Given the description of an element on the screen output the (x, y) to click on. 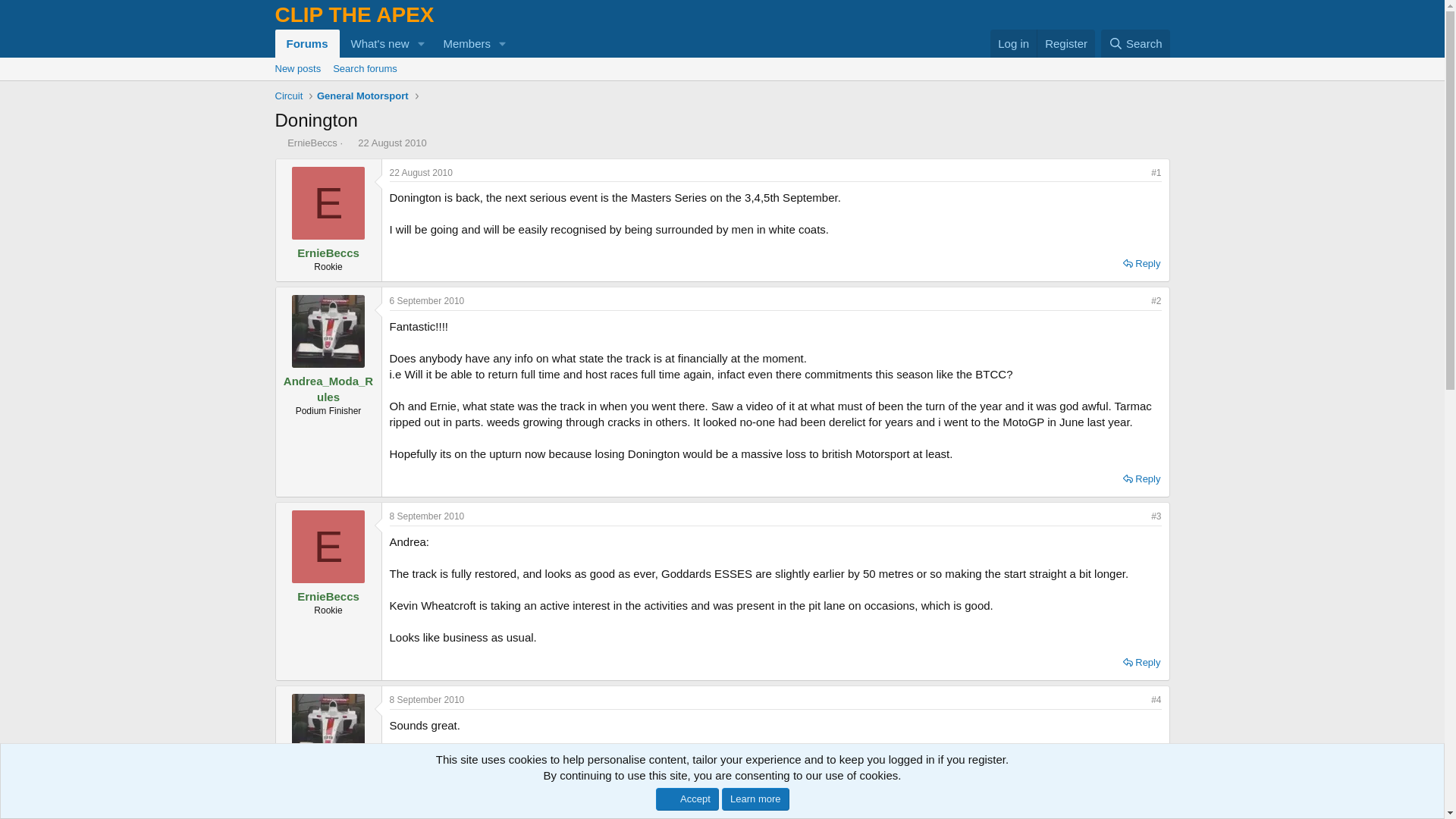
E (328, 203)
22 August 2010 (421, 172)
8 September 2010 at 23:33 (427, 699)
New posts (296, 68)
ErnieBeccs (311, 142)
CLIP THE APEX (354, 17)
Log in (1013, 43)
22 August 2010 (392, 60)
Thread starter (392, 142)
Search (279, 143)
LOL    LOL (1135, 43)
Search (1107, 788)
Register (1135, 43)
Forums (1065, 43)
